Given the description of an element on the screen output the (x, y) to click on. 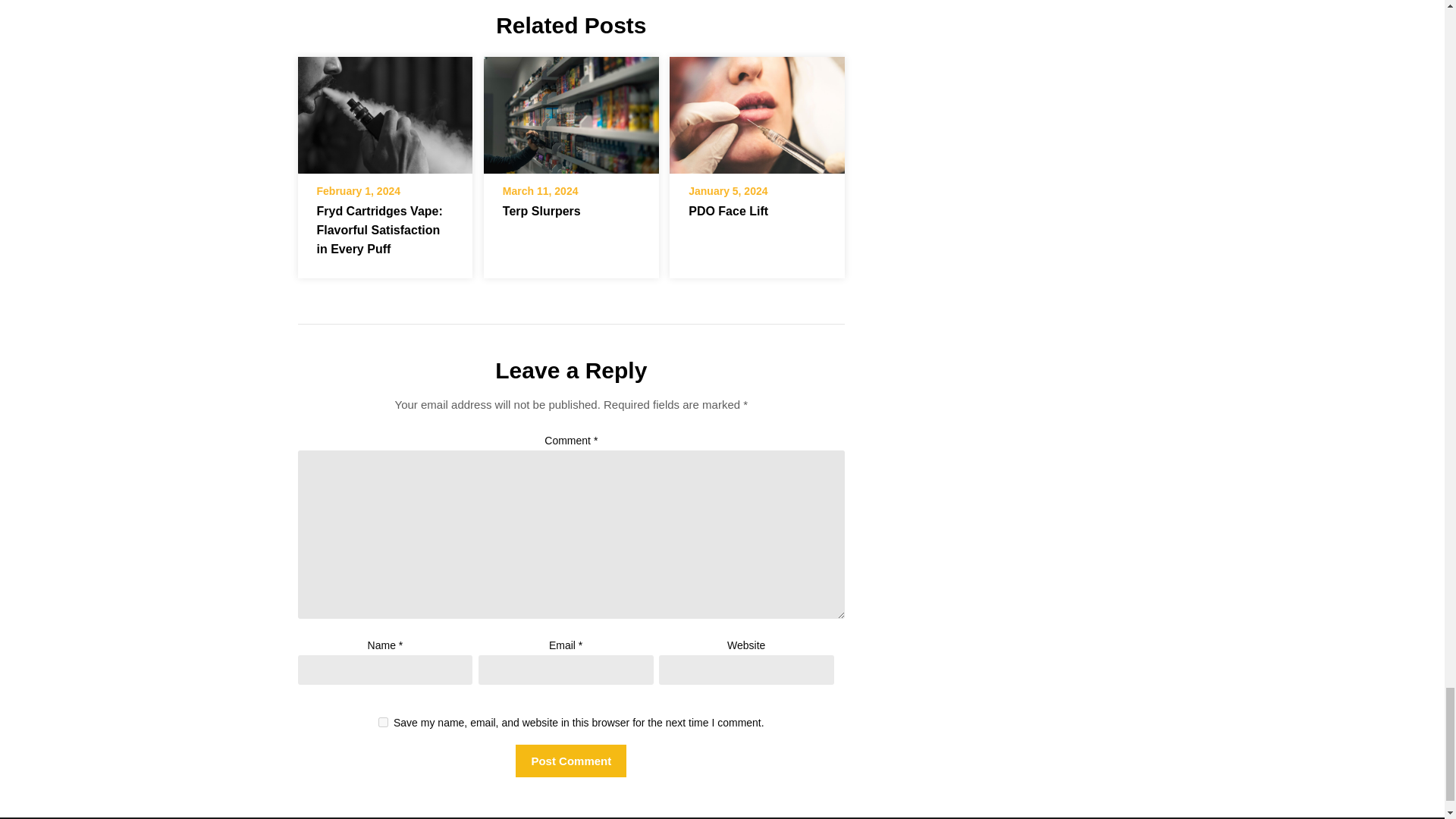
Post Comment (570, 760)
PDO Face Lift (756, 110)
Post Comment (570, 760)
Terp Slurpers (571, 110)
Fryd Cartridges Vape: Flavorful Satisfaction in Every Puff (379, 229)
Terp Slurpers (571, 114)
Terp Slurpers (541, 210)
PDO Face Lift (756, 114)
yes (383, 722)
Fryd Cartridges Vape: Flavorful Satisfaction in Every Puff (384, 110)
